Given the description of an element on the screen output the (x, y) to click on. 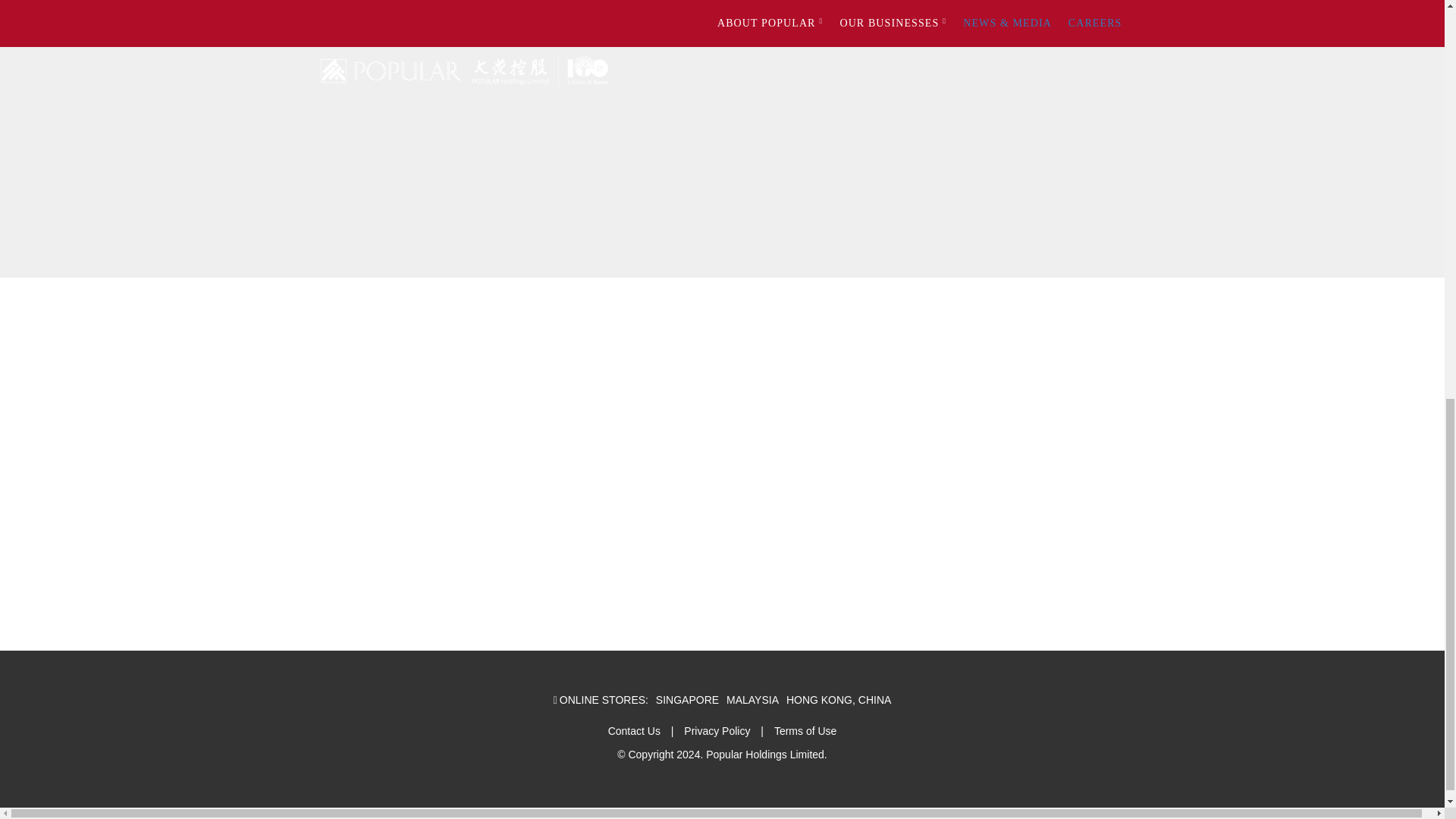
MALAYSIA (752, 699)
Terms of Use (804, 730)
HONG KONG, CHINA (838, 699)
Contact Us (634, 730)
SINGAPORE (687, 699)
Privacy Policy (716, 730)
